Given the description of an element on the screen output the (x, y) to click on. 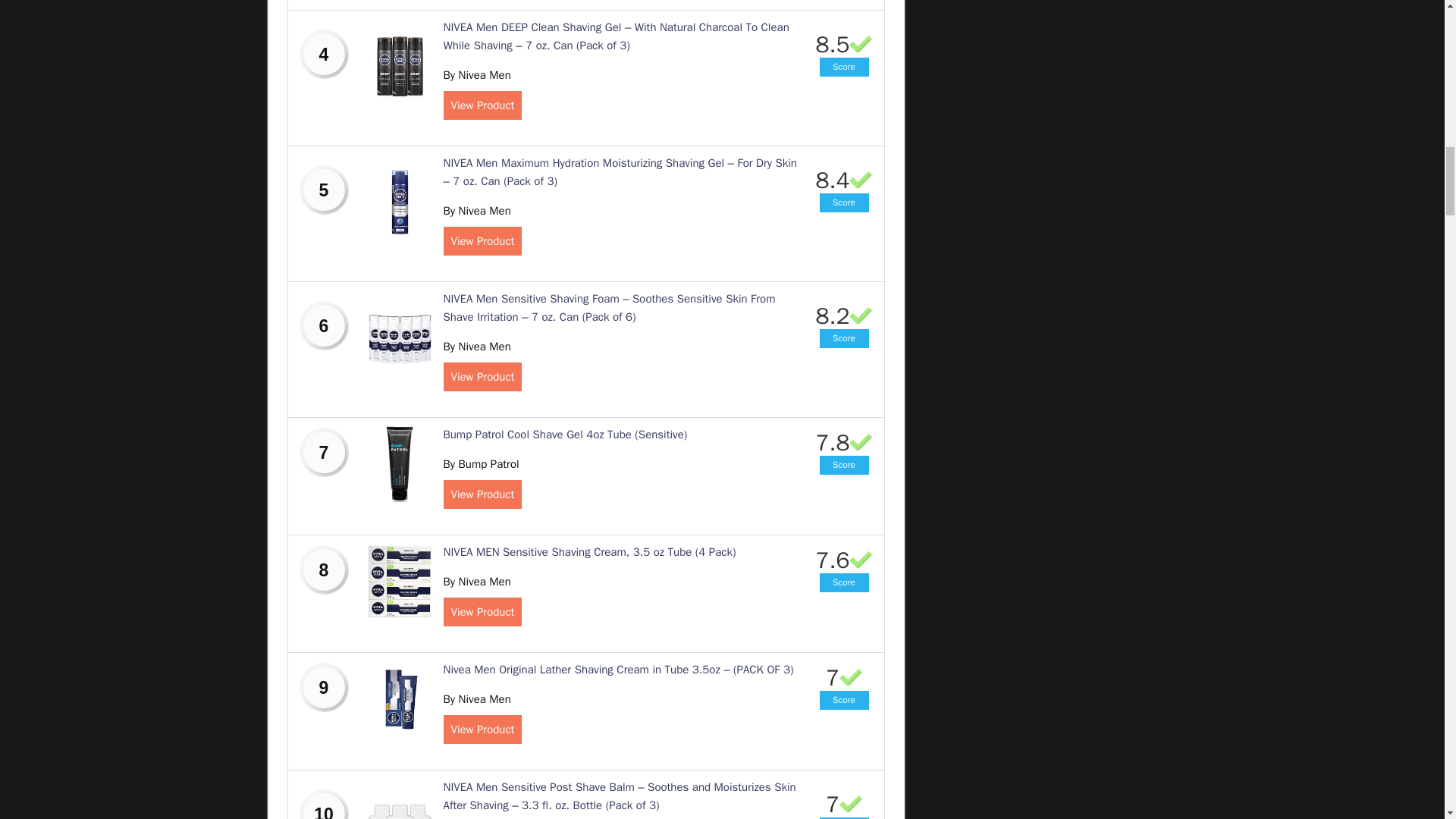
By Nivea Men (476, 210)
View Product (481, 240)
By Nivea Men (476, 74)
View Product (481, 104)
By Nivea Men (476, 345)
View Product (481, 376)
